Given the description of an element on the screen output the (x, y) to click on. 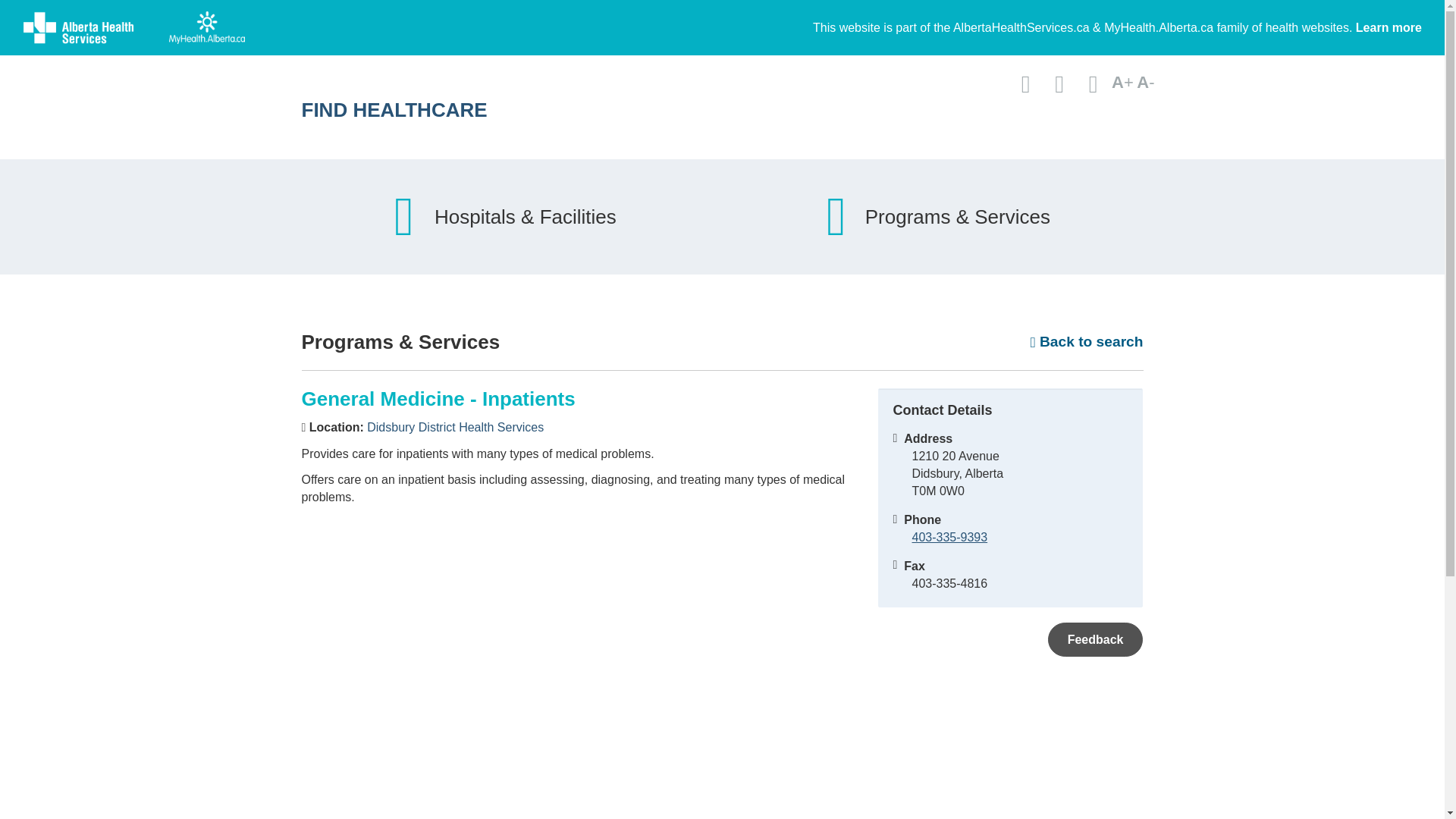
Learn more (1388, 27)
Back to search (1086, 341)
403-335-9393 (949, 536)
A- (1145, 81)
Didsbury District Health Services (454, 427)
FIND HEALTHCARE (574, 110)
Feedback (1095, 639)
